Given the description of an element on the screen output the (x, y) to click on. 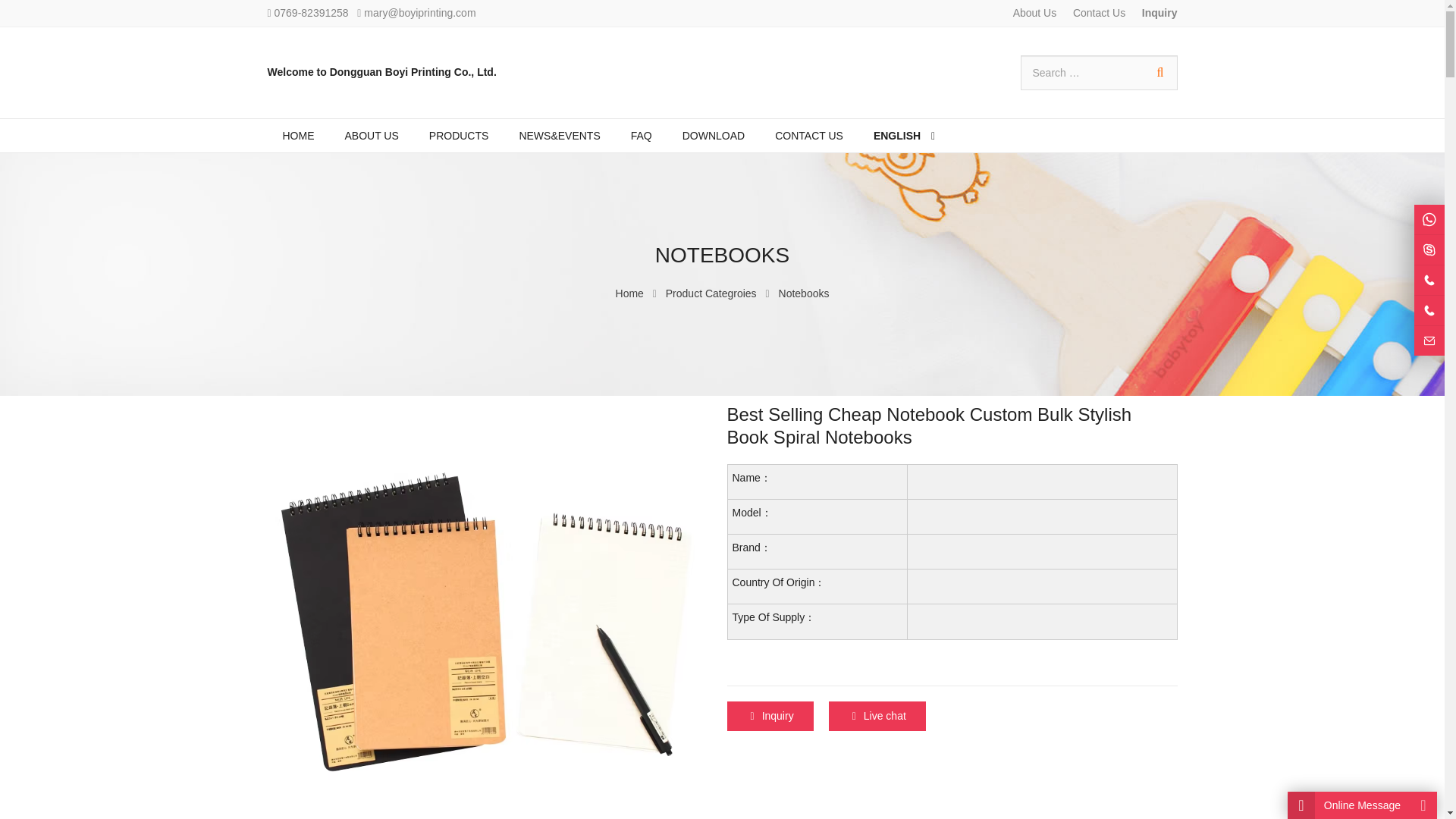
ABOUT US (371, 135)
Contact Us (1100, 12)
CONTACT US (809, 135)
Inquiry (769, 716)
ENGLISH (904, 135)
Product Categroies (711, 293)
HOME (297, 135)
0769-82391258 (312, 12)
Inquiry (1159, 12)
